Given the description of an element on the screen output the (x, y) to click on. 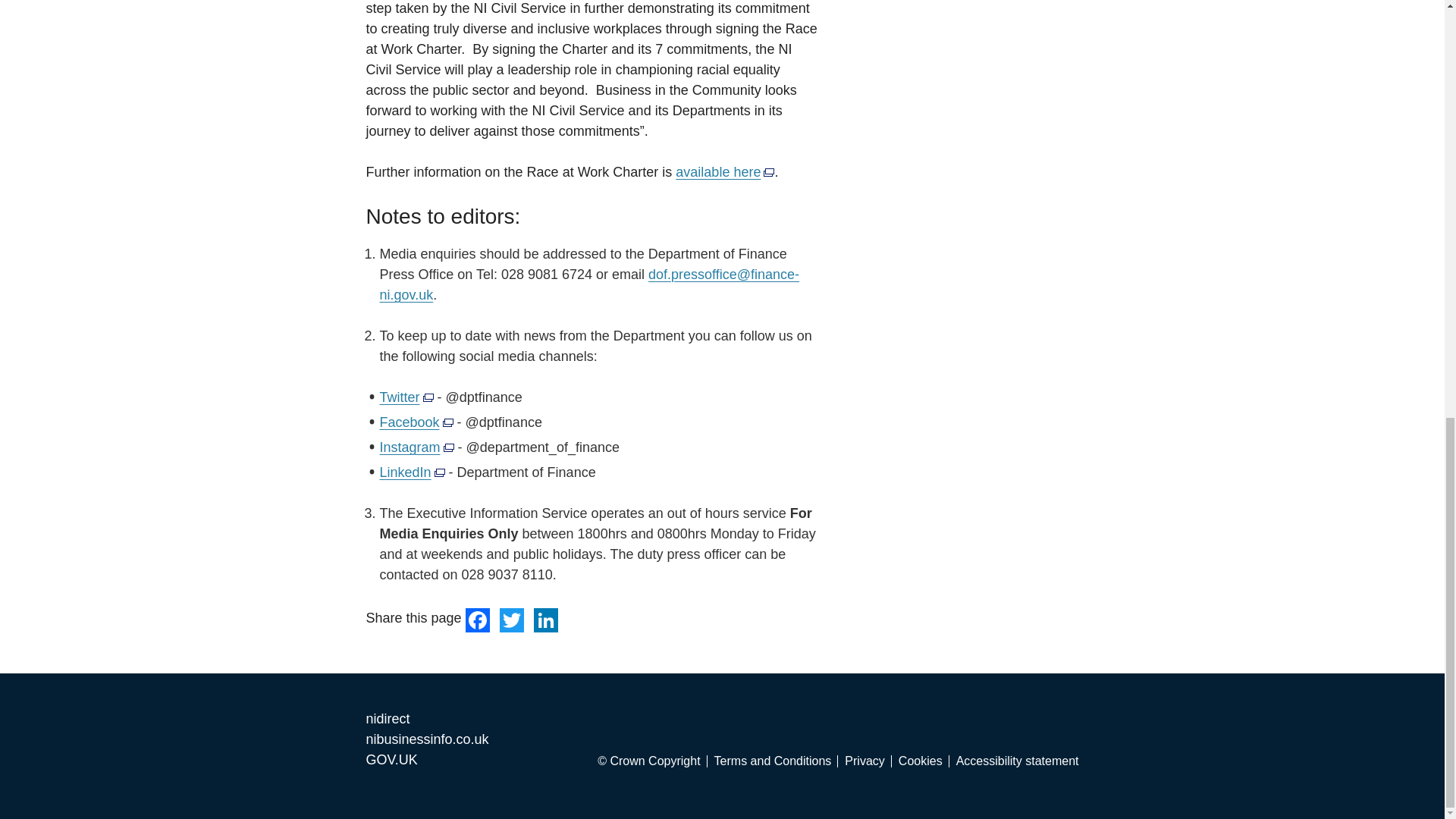
Cookies (923, 761)
Facebook (479, 619)
nibusinessinfo.co.uk (426, 739)
LinkedIn (545, 619)
Privacy (867, 761)
GOV.UK (390, 759)
nidirect (387, 718)
Twitter (511, 619)
Accessibility statement (1017, 761)
Terms and Conditions (776, 761)
